Given the description of an element on the screen output the (x, y) to click on. 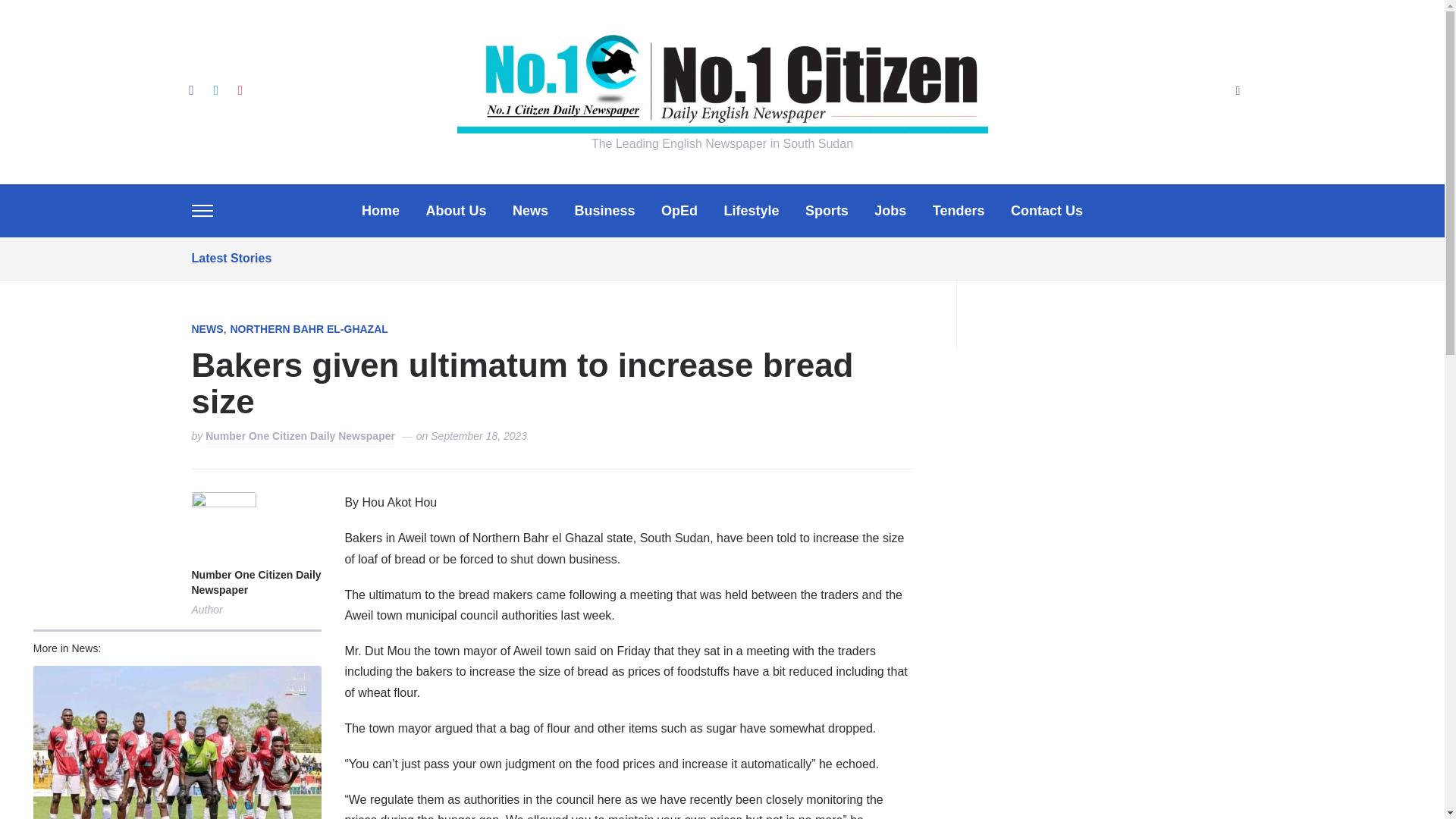
facebook (190, 88)
Search (1237, 91)
Posts by Number One Citizen Daily Newspaper (255, 583)
Friend me on Facebook (190, 88)
instagram (239, 88)
Home (379, 210)
twitter (216, 88)
Posts by Number One Citizen Daily Newspaper (299, 436)
Follow Me (216, 88)
Permalink to Juba Super Cup set for September (177, 742)
